Given the description of an element on the screen output the (x, y) to click on. 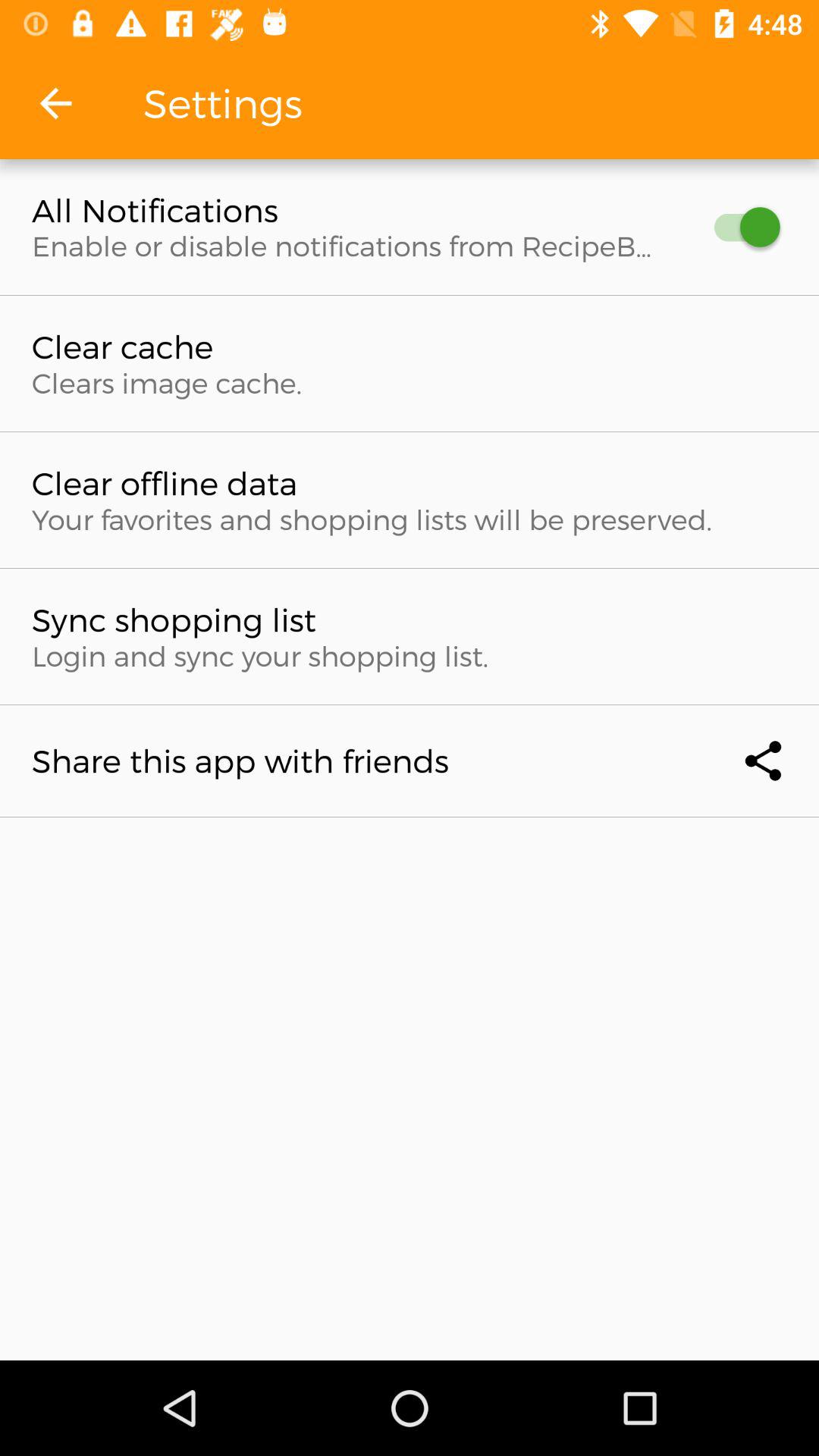
select item to the right of the all notifications icon (739, 227)
